Given the description of an element on the screen output the (x, y) to click on. 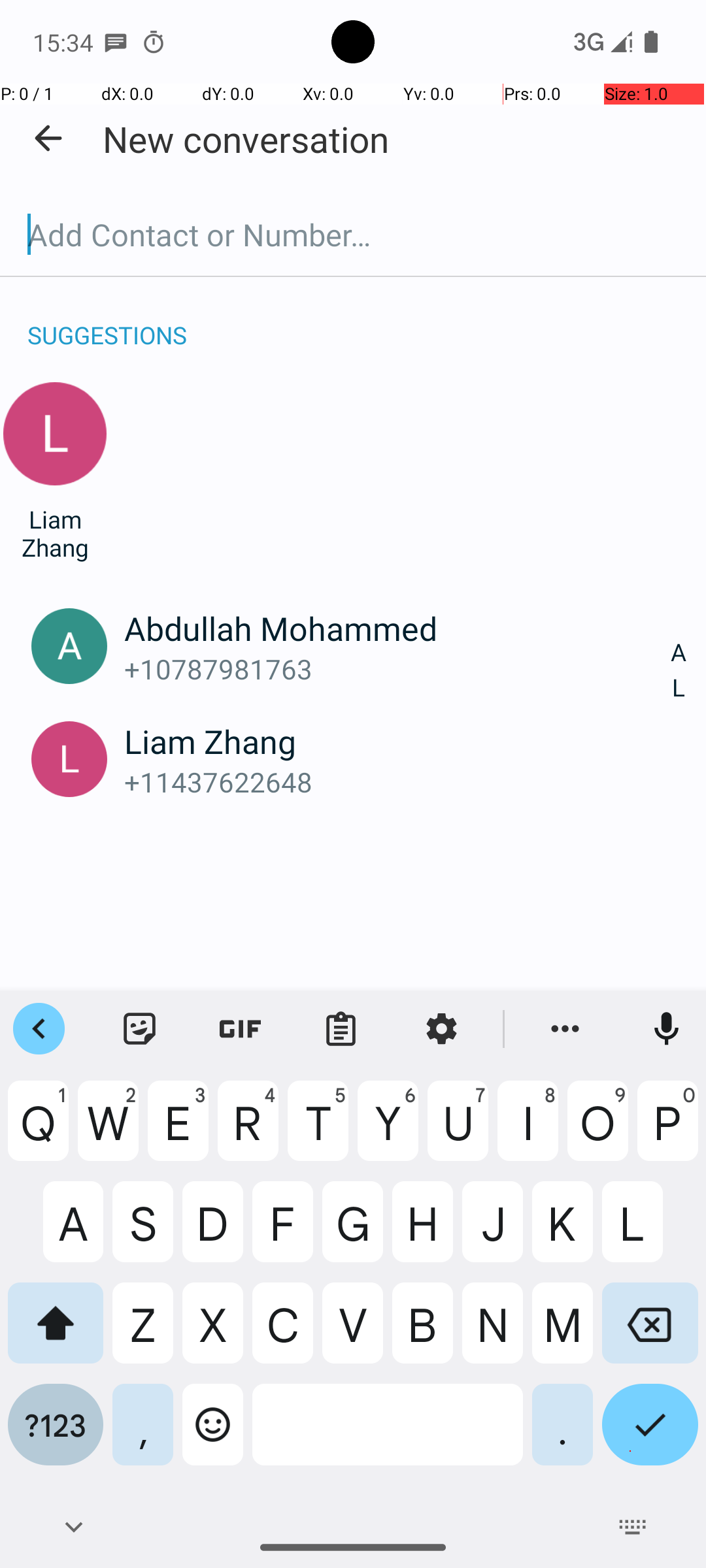
SUGGESTIONS Element type: android.widget.TextView (106, 321)
A
L Element type: android.widget.TextView (678, 670)
Liam Zhang Element type: android.widget.TextView (54, 532)
Abdullah Mohammed Element type: android.widget.TextView (397, 627)
+10787981763 Element type: android.widget.TextView (397, 668)
+11437622648 Element type: android.widget.TextView (397, 781)
SMS Messenger notification: Liam Zhang Element type: android.widget.ImageView (115, 41)
